Given the description of an element on the screen output the (x, y) to click on. 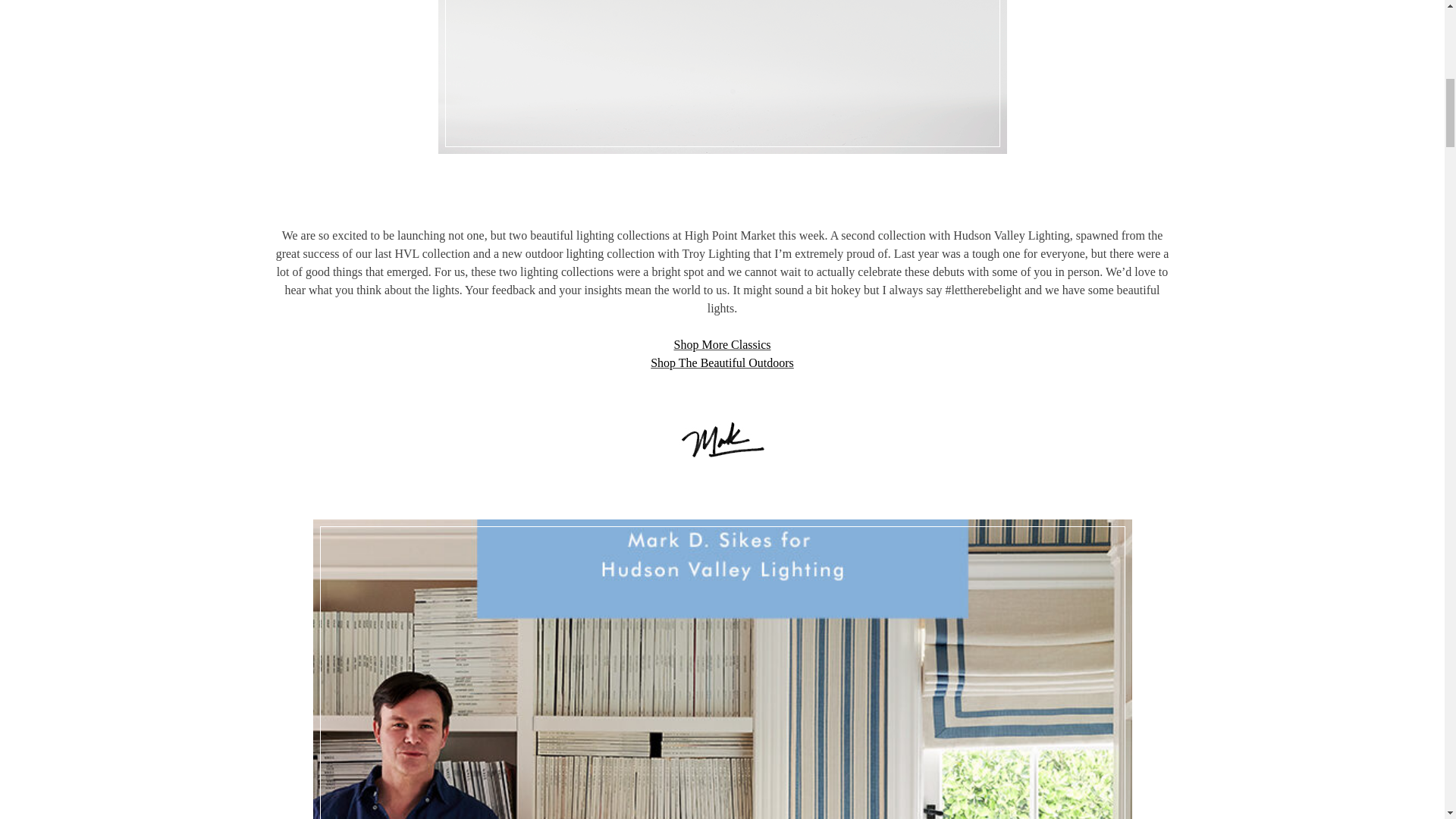
Shop The Beautiful Outdoors (721, 362)
Shop More Classics (721, 344)
8bb27ec2-53d8-2e55-2441-a34ea3664d4c (722, 76)
